Given the description of an element on the screen output the (x, y) to click on. 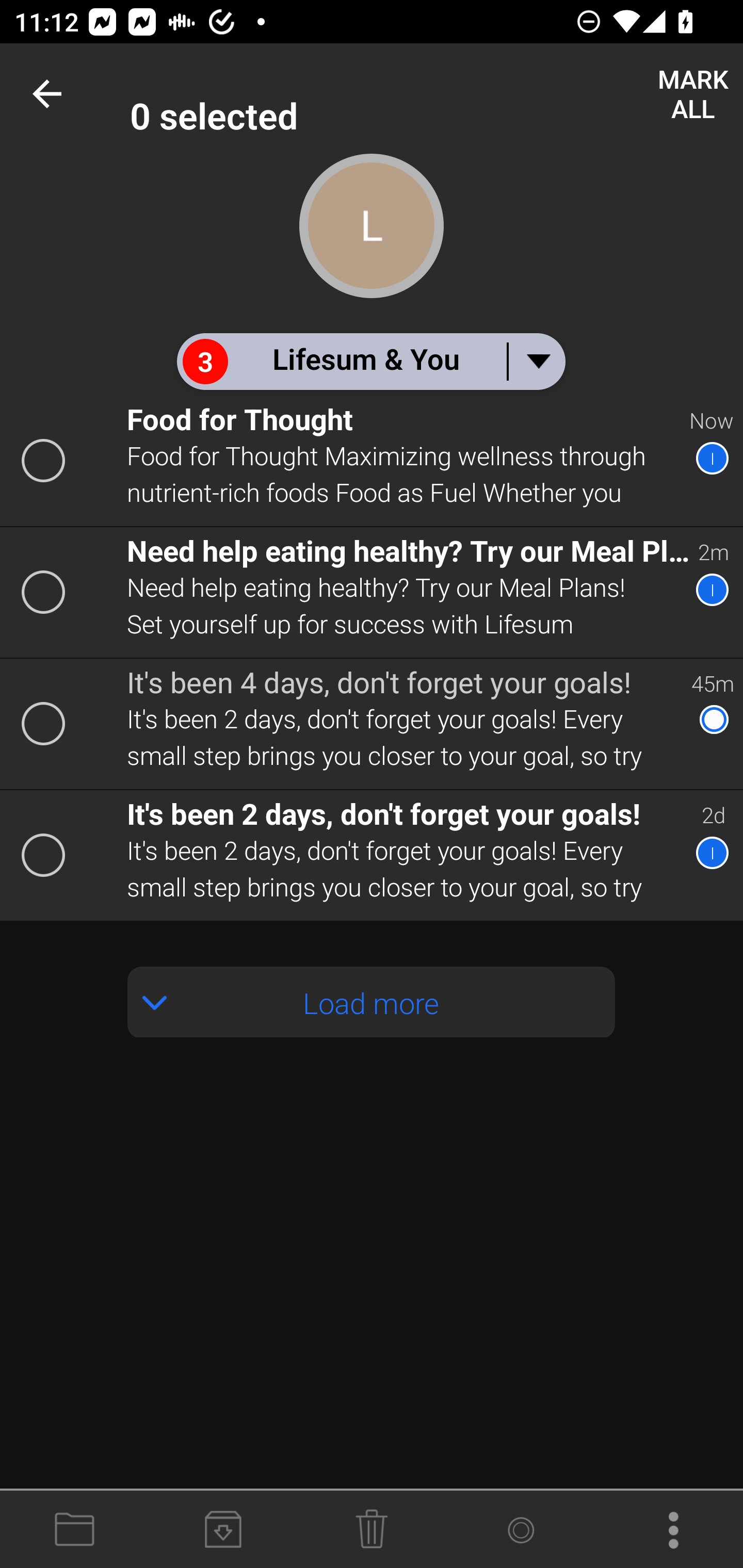
Navigate up (50, 93)
Lifesum lifesum@communication.lifesum.com (436, 93)
MARK
ALL (692, 93)
3 Lifesum & You (370, 361)
Load more (371, 1001)
Move (74, 1529)
Archive (222, 1529)
Delete (371, 1529)
Mark as Read (520, 1529)
More Options (668, 1529)
